Given the description of an element on the screen output the (x, y) to click on. 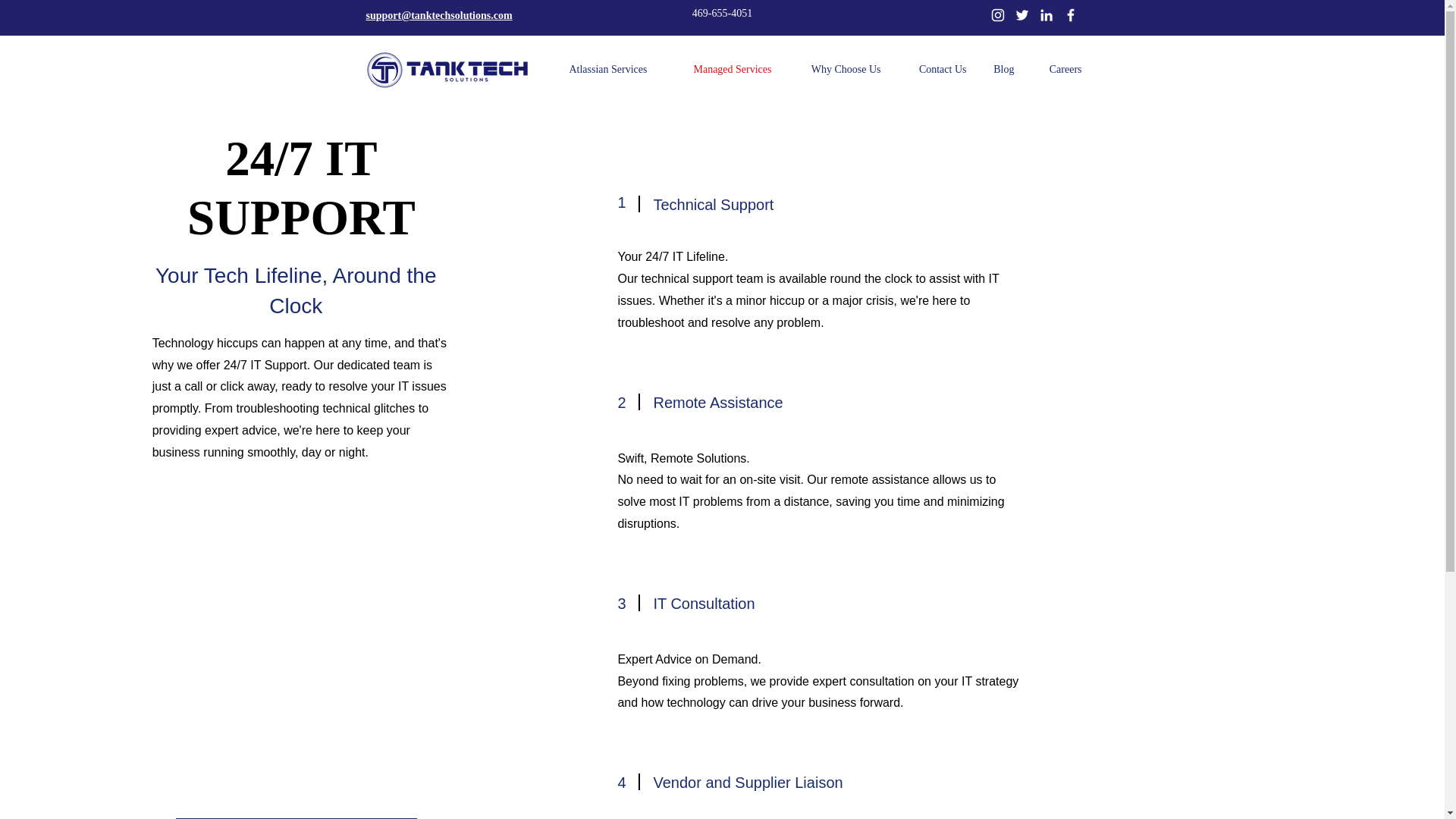
Atlassian Services (596, 69)
Why Choose Us (837, 69)
Careers (1059, 69)
Blog (1002, 69)
Managed Services (720, 69)
Contact Us (933, 69)
